Given the description of an element on the screen output the (x, y) to click on. 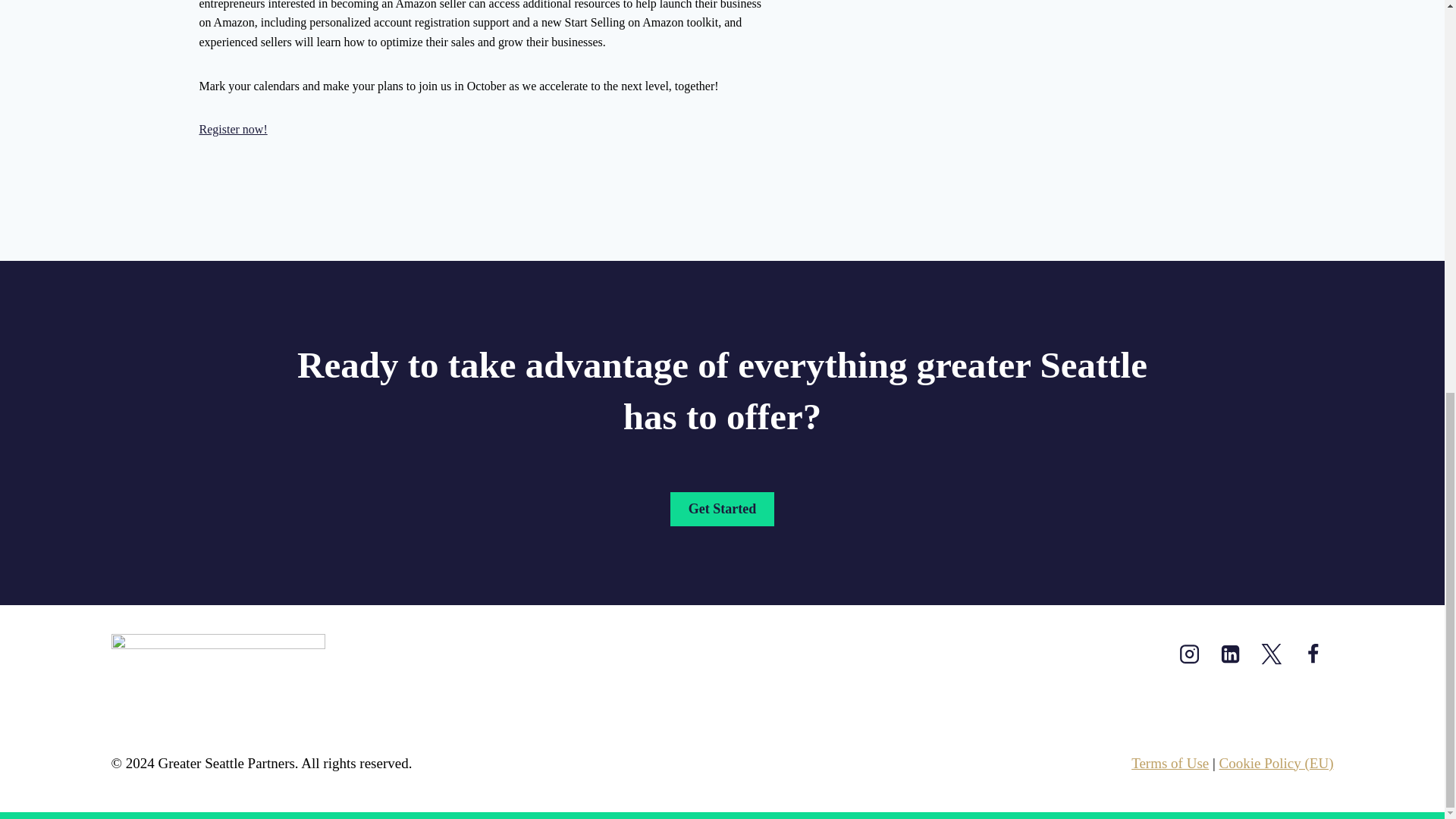
Get Started (721, 509)
Terms of Use (1169, 763)
Register now! (232, 128)
